Given the description of an element on the screen output the (x, y) to click on. 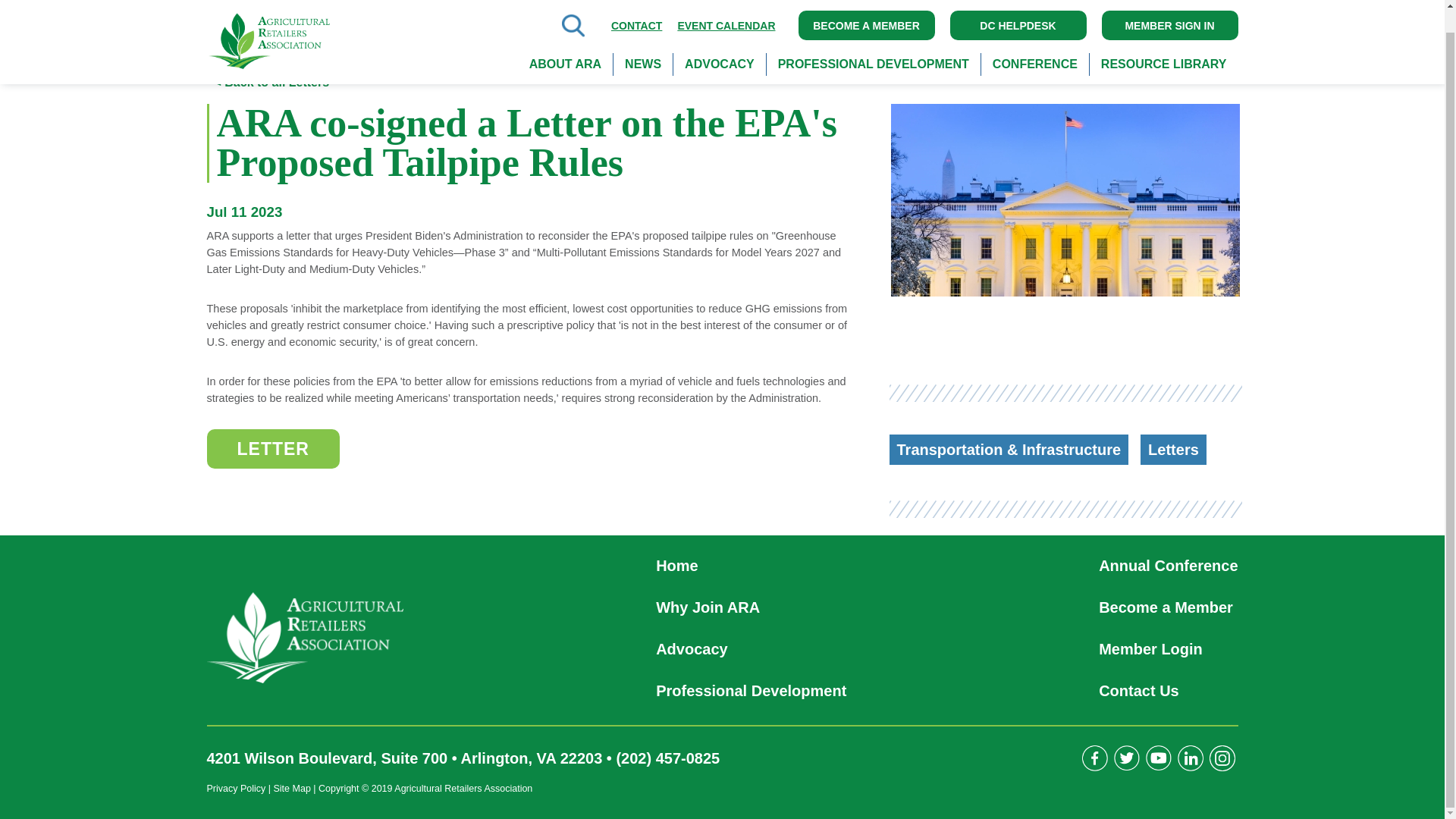
BECOME A MEMBER (865, 8)
CONTACT (636, 6)
MEMBER SIGN IN (1168, 8)
EVENT CALENDAR (726, 6)
DC HELPDESK (1017, 8)
